Given the description of an element on the screen output the (x, y) to click on. 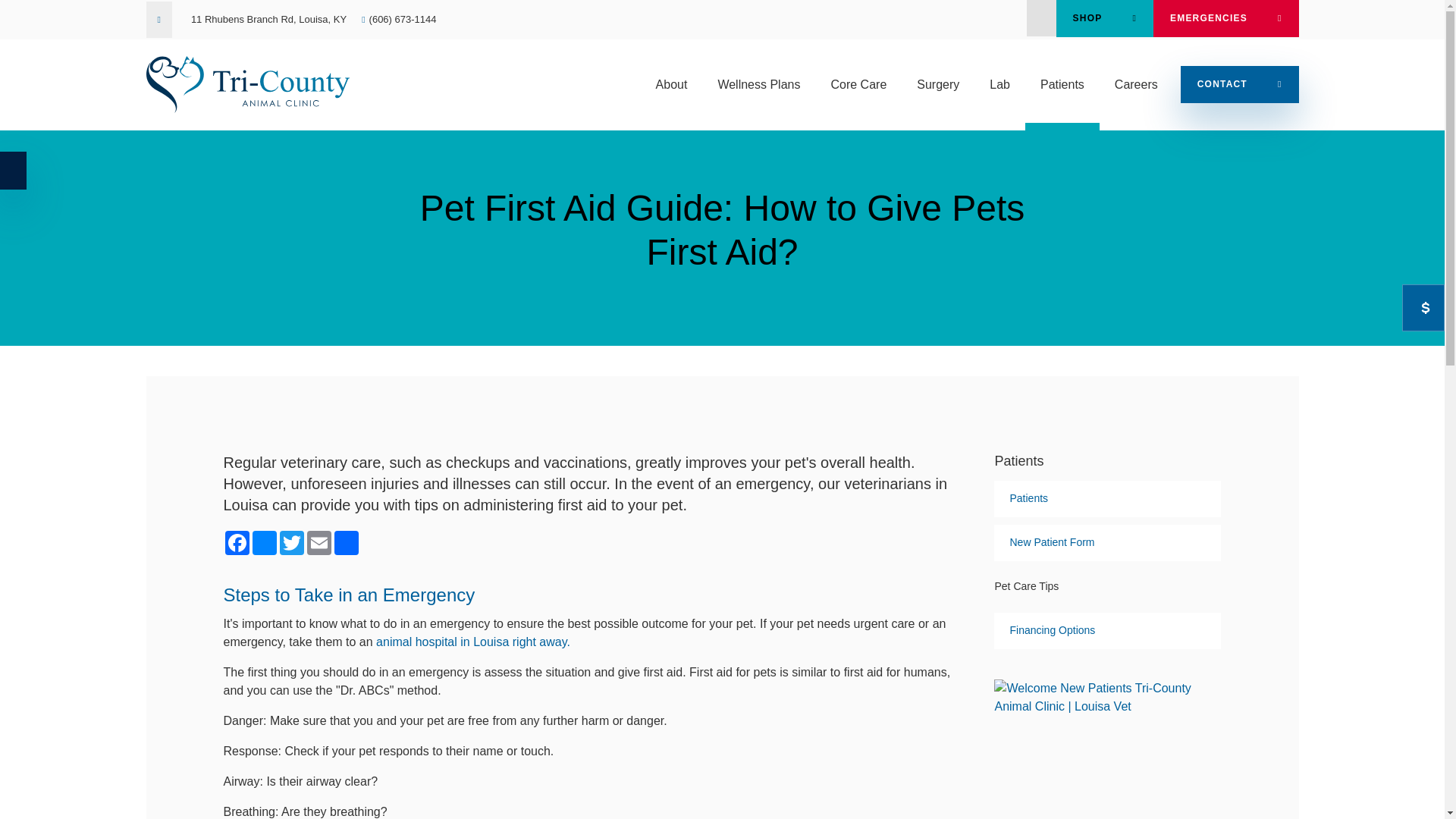
SHOP (1105, 18)
11 Rhubens Branch Rd Louisa KY (268, 19)
EMERGENCIES (1225, 18)
Accessible Version (13, 170)
OPEN SEARCH BOX (1041, 18)
